Given the description of an element on the screen output the (x, y) to click on. 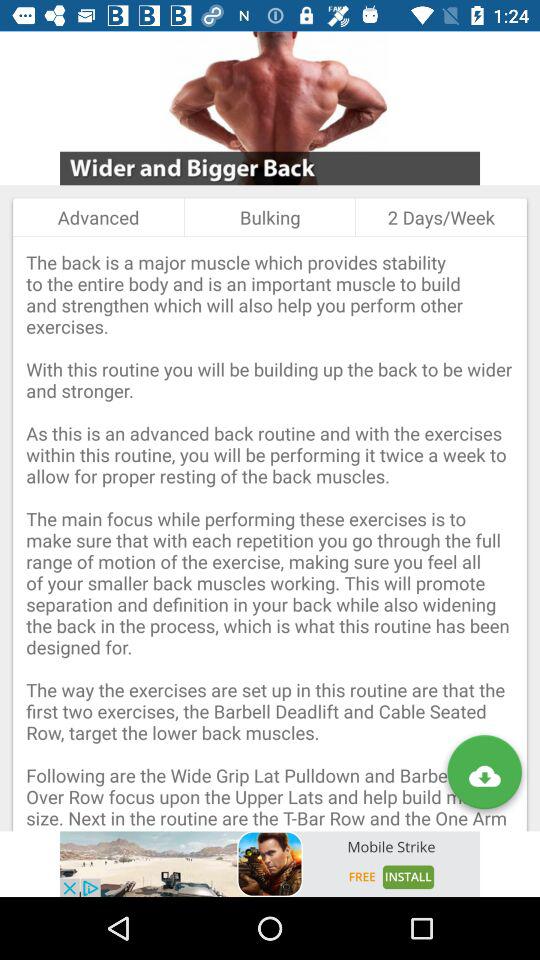
open the icon at the bottom right corner (484, 775)
